Given the description of an element on the screen output the (x, y) to click on. 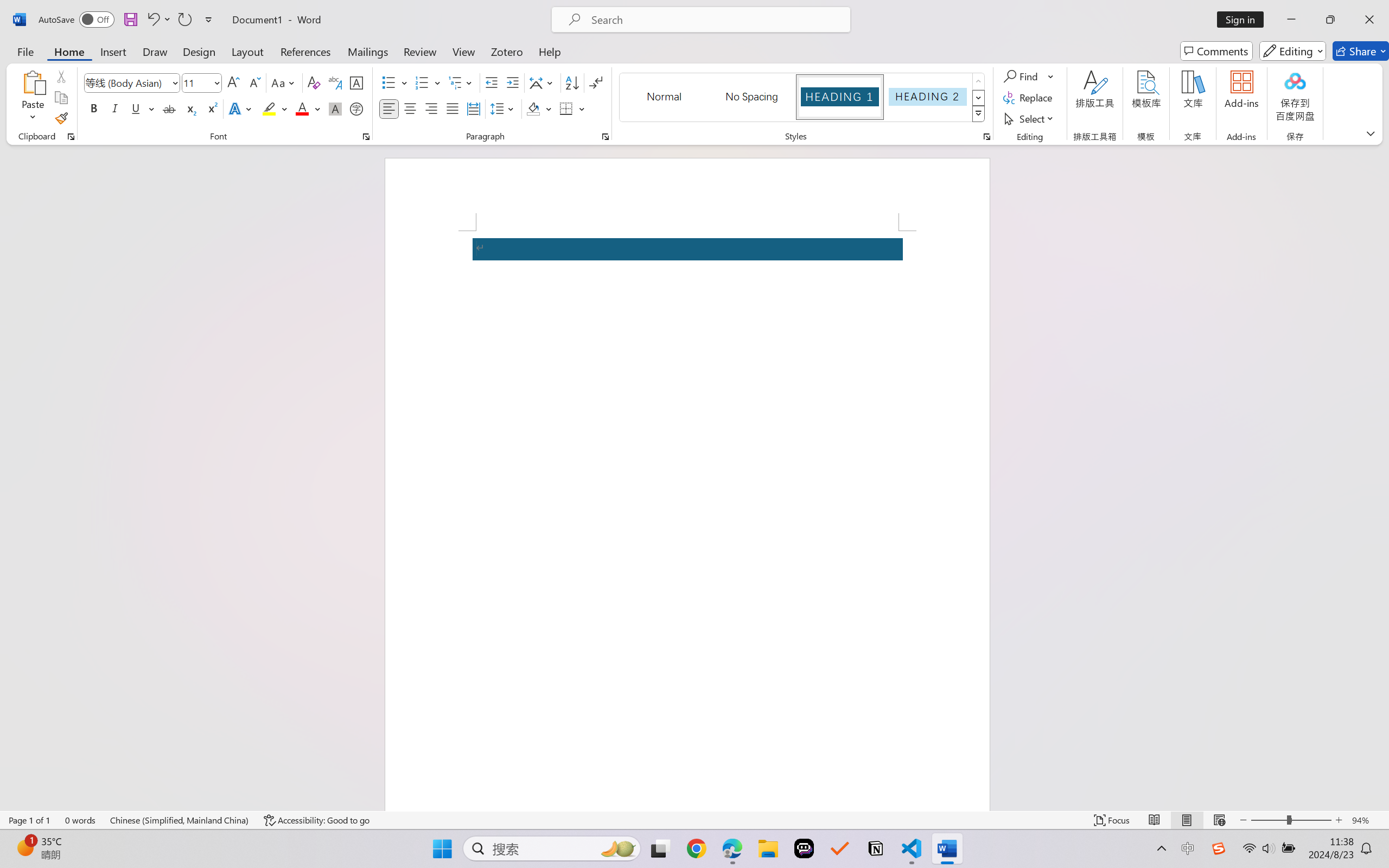
About (21, 745)
Copyright (73, 745)
Learning (61, 517)
Sports (61, 492)
Who is my administrator? - Google Account Help (417, 12)
